Given the description of an element on the screen output the (x, y) to click on. 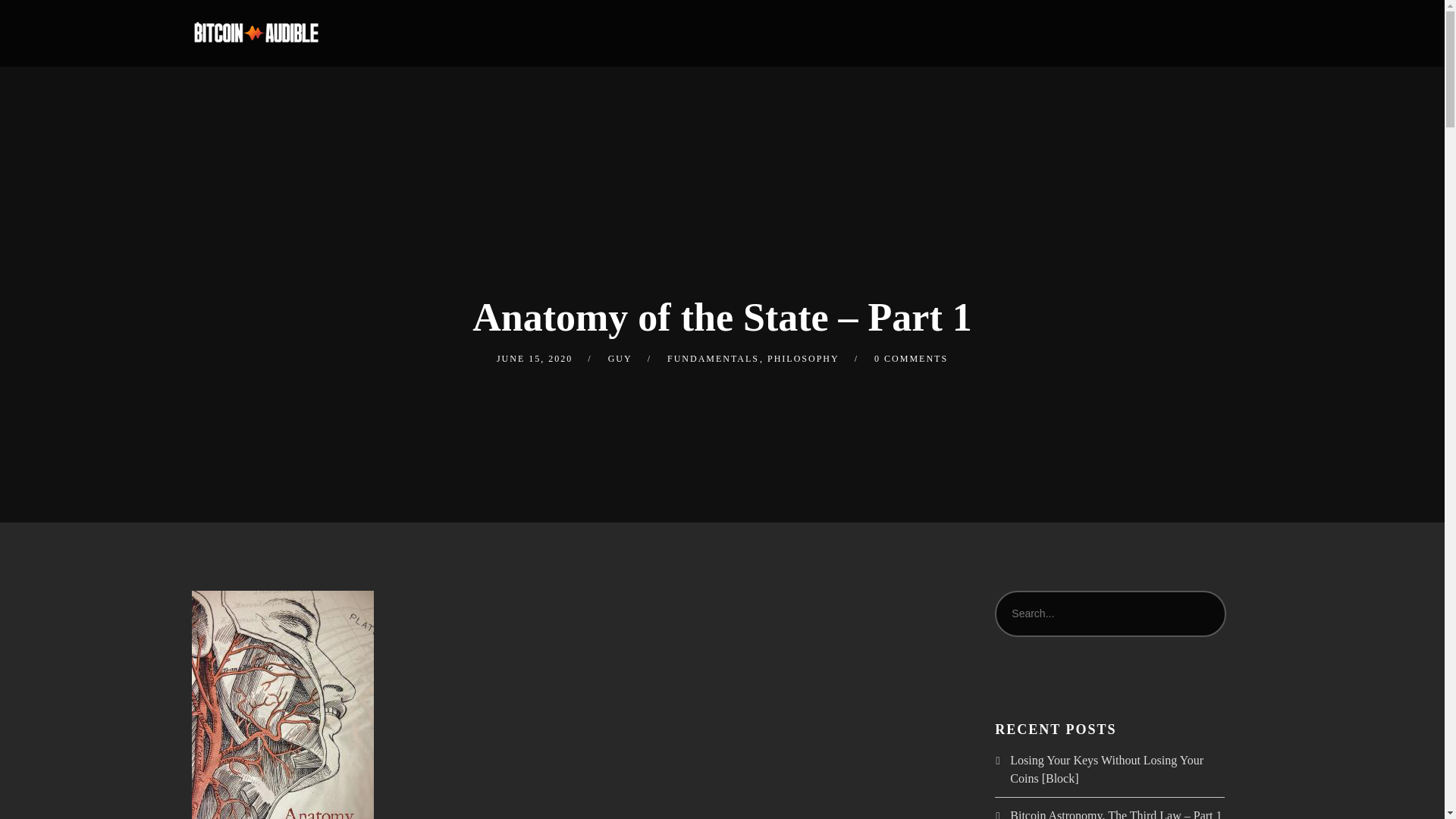
0 COMMENTS (911, 357)
FUNDAMENTALS (712, 357)
GUY (619, 357)
Bitcoin Audible (255, 33)
PHILOSOPHY (803, 357)
Submit (32, 22)
